Given the description of an element on the screen output the (x, y) to click on. 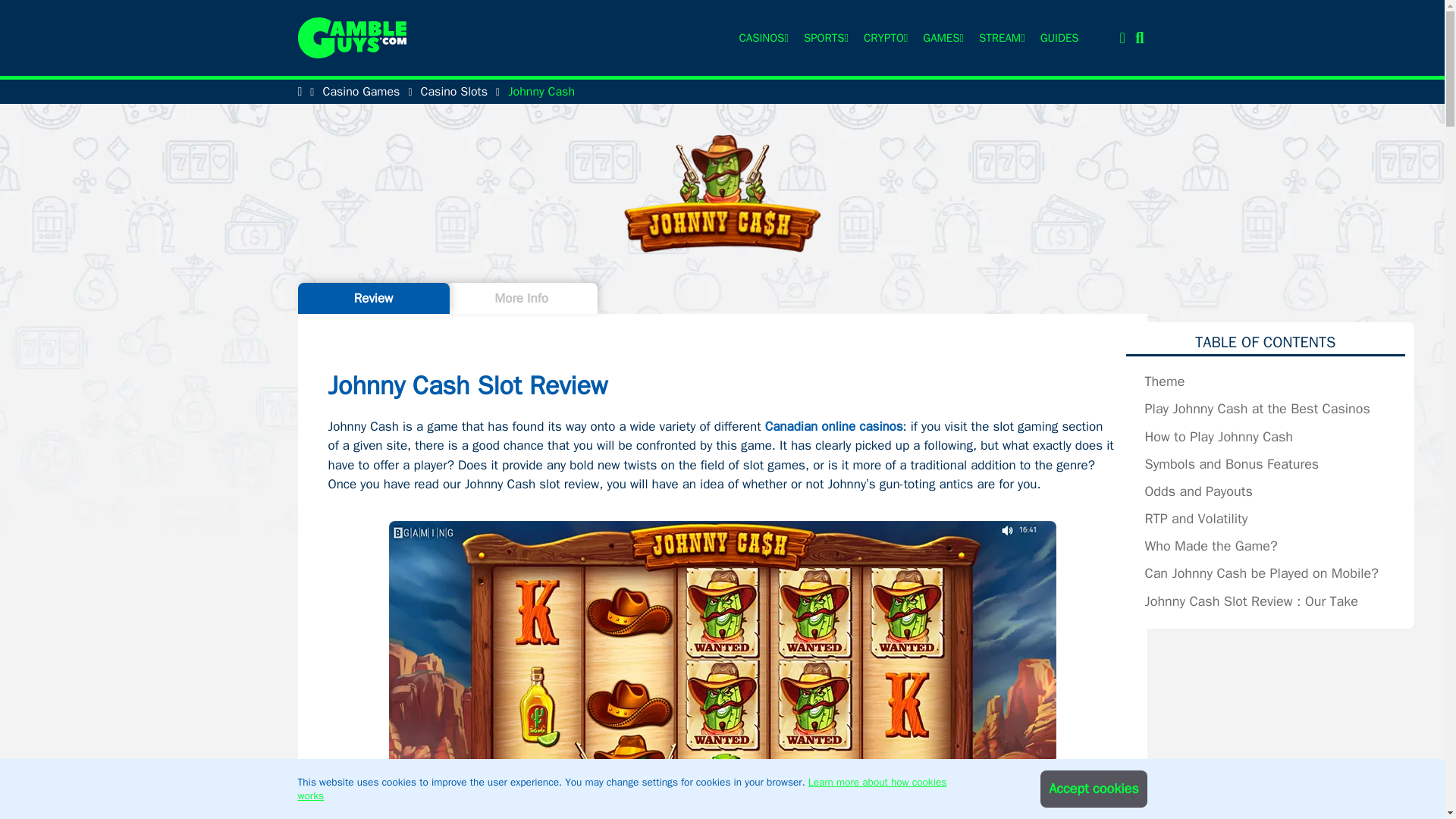
Canadian online casinos (833, 426)
CASINOS (755, 37)
GUIDES (1059, 37)
Casino Games (359, 91)
CRYPTO (877, 37)
GAMES (935, 37)
Casino Slots (453, 91)
SPORTS (818, 37)
STREAM (994, 37)
